Given the description of an element on the screen output the (x, y) to click on. 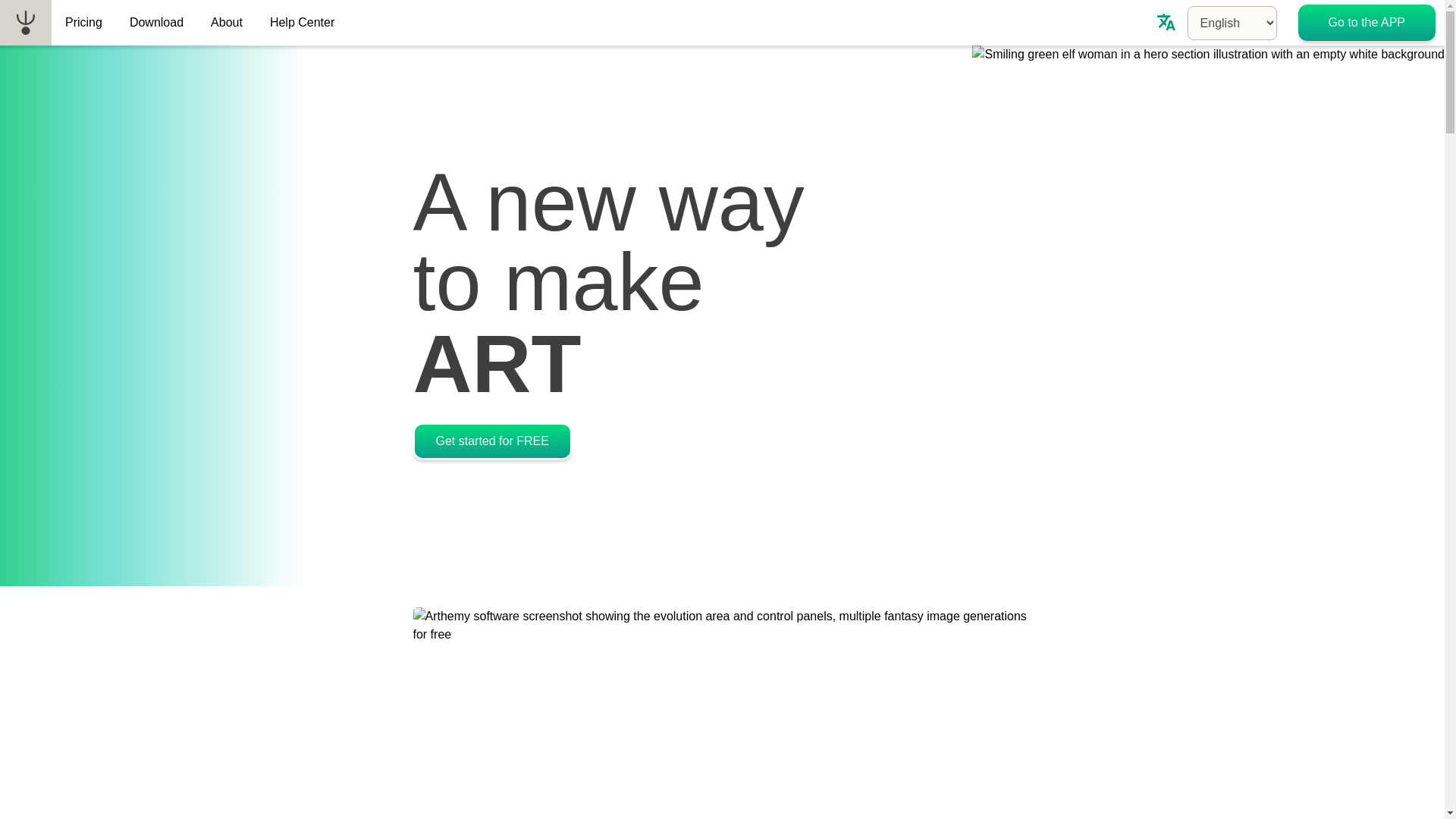
Help Center (301, 22)
About (226, 22)
Get started for FREE (491, 441)
Download (156, 22)
Pricing (83, 22)
Go to the APP (1366, 22)
